Given the description of an element on the screen output the (x, y) to click on. 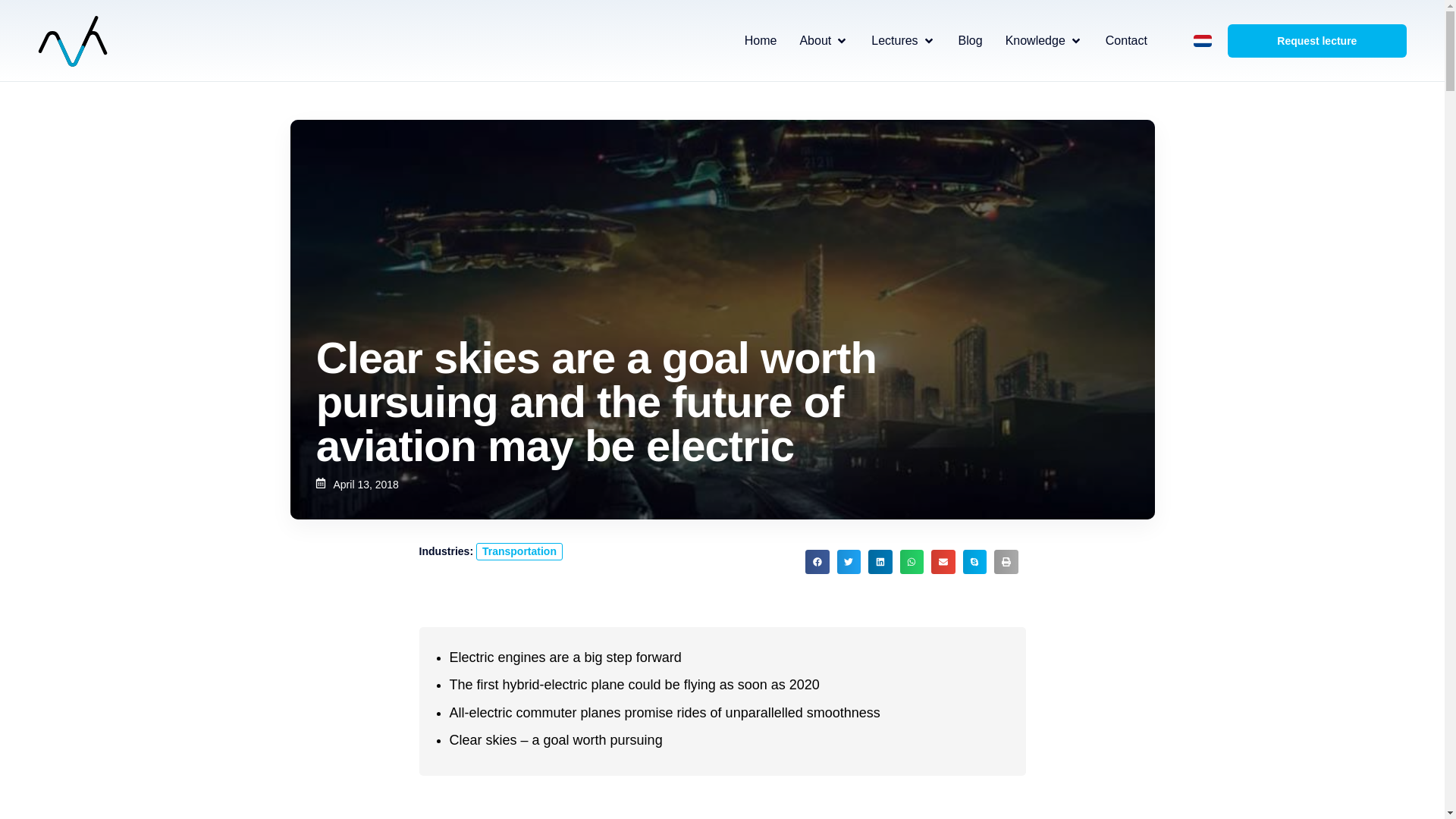
About (815, 40)
Request lecture (1316, 40)
Lectures (893, 40)
Blog (970, 40)
Transportation (519, 551)
Contact (1126, 40)
Knowledge (1035, 40)
Home (760, 40)
